Given the description of an element on the screen output the (x, y) to click on. 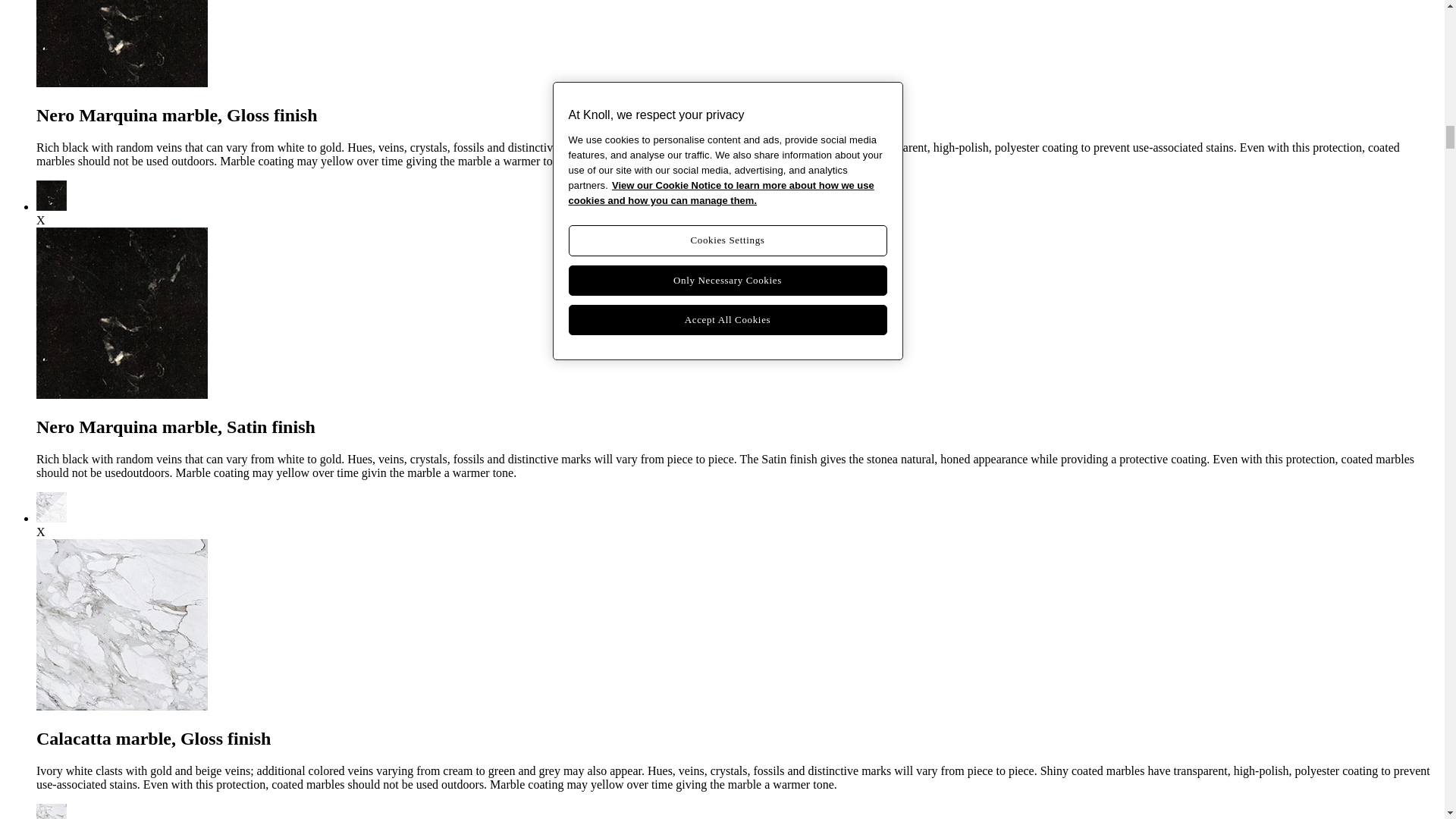
Calacatta marble, Gloss finish (51, 517)
Nero Marquina marble, Satin finish (51, 205)
